Given the description of an element on the screen output the (x, y) to click on. 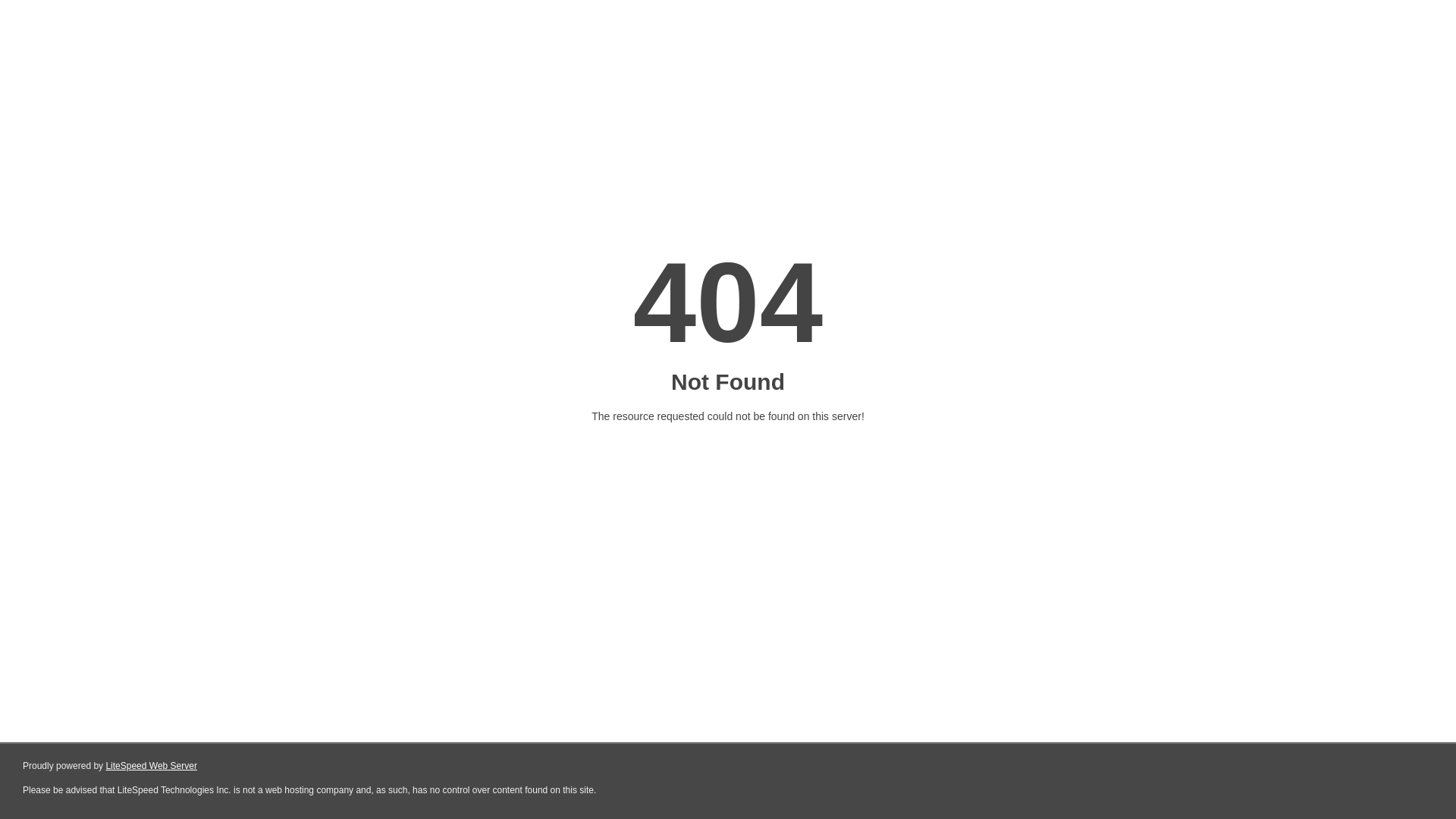
LiteSpeed Web Server Element type: text (151, 765)
